Given the description of an element on the screen output the (x, y) to click on. 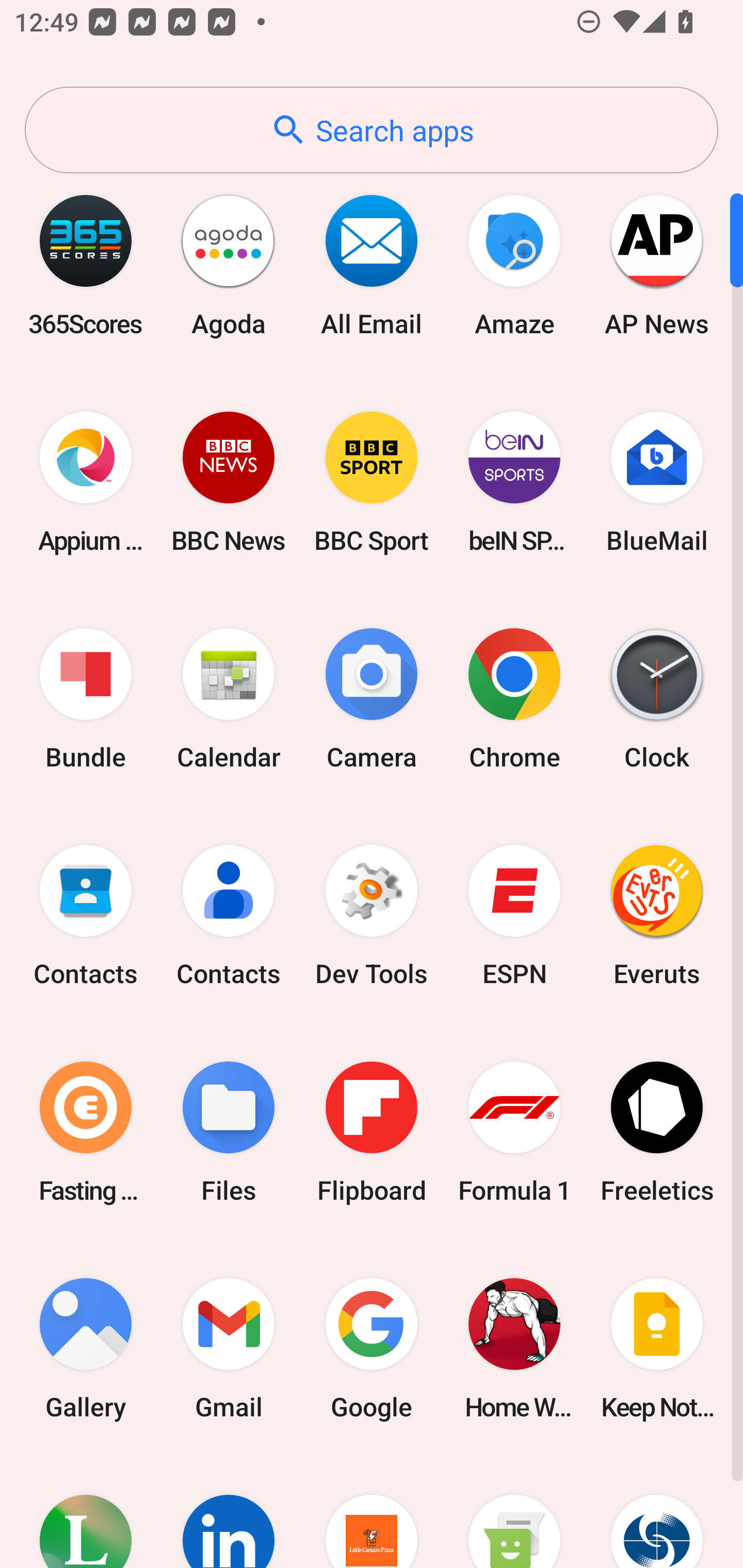
  Search apps (371, 130)
365Scores (85, 264)
Agoda (228, 264)
All Email (371, 264)
Amaze (514, 264)
AP News (656, 264)
Appium Settings (85, 482)
BBC News (228, 482)
BBC Sport (371, 482)
beIN SPORTS (514, 482)
BlueMail (656, 482)
Bundle (85, 699)
Calendar (228, 699)
Camera (371, 699)
Chrome (514, 699)
Clock (656, 699)
Contacts (85, 915)
Contacts (228, 915)
Dev Tools (371, 915)
ESPN (514, 915)
Everuts (656, 915)
Fasting Coach (85, 1131)
Files (228, 1131)
Flipboard (371, 1131)
Formula 1 (514, 1131)
Freeletics (656, 1131)
Gallery (85, 1348)
Gmail (228, 1348)
Google (371, 1348)
Home Workout (514, 1348)
Keep Notes (656, 1348)
